Given the description of an element on the screen output the (x, y) to click on. 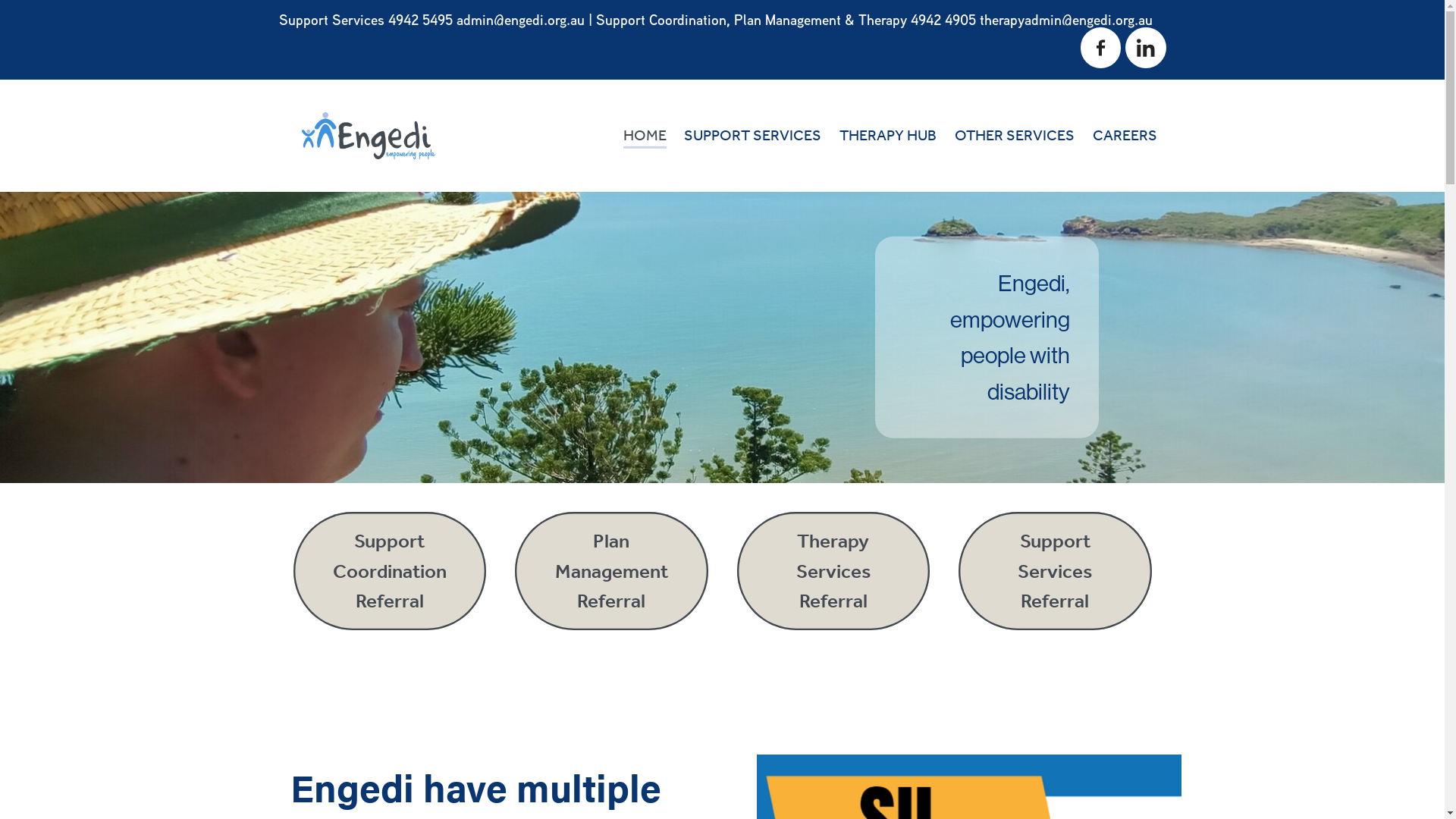
therapyadmin@engedi.org.au Element type: text (1065, 19)
Therapy Services Referral Element type: text (833, 570)
CAREERS Element type: text (1124, 135)
A link to this website's Facebook. Element type: hover (1100, 47)
SUPPORT SERVICES Element type: text (752, 135)
A link to this website's LinkedIn. Element type: hover (1145, 47)
admin@engedi.org.au Element type: text (520, 19)
Support Services Referral Element type: text (1054, 570)
THERAPY HUB Element type: text (887, 135)
Support Coordination Referral Element type: text (389, 570)
Plan Management Referral Element type: text (611, 570)
HOME Element type: text (644, 135)
OTHER SERVICES Element type: text (1014, 135)
